Given the description of an element on the screen output the (x, y) to click on. 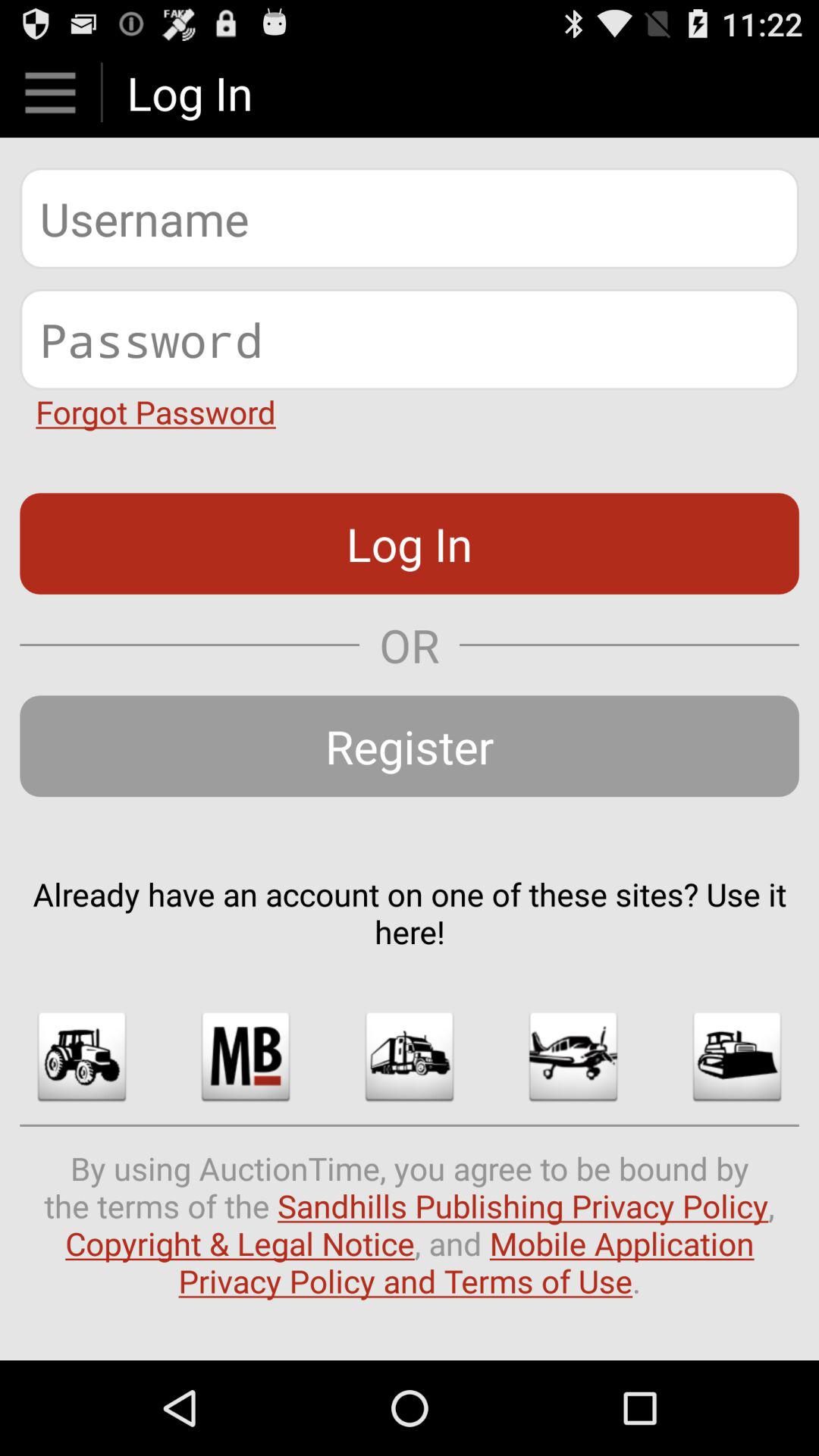
open the main menu (50, 92)
